Given the description of an element on the screen output the (x, y) to click on. 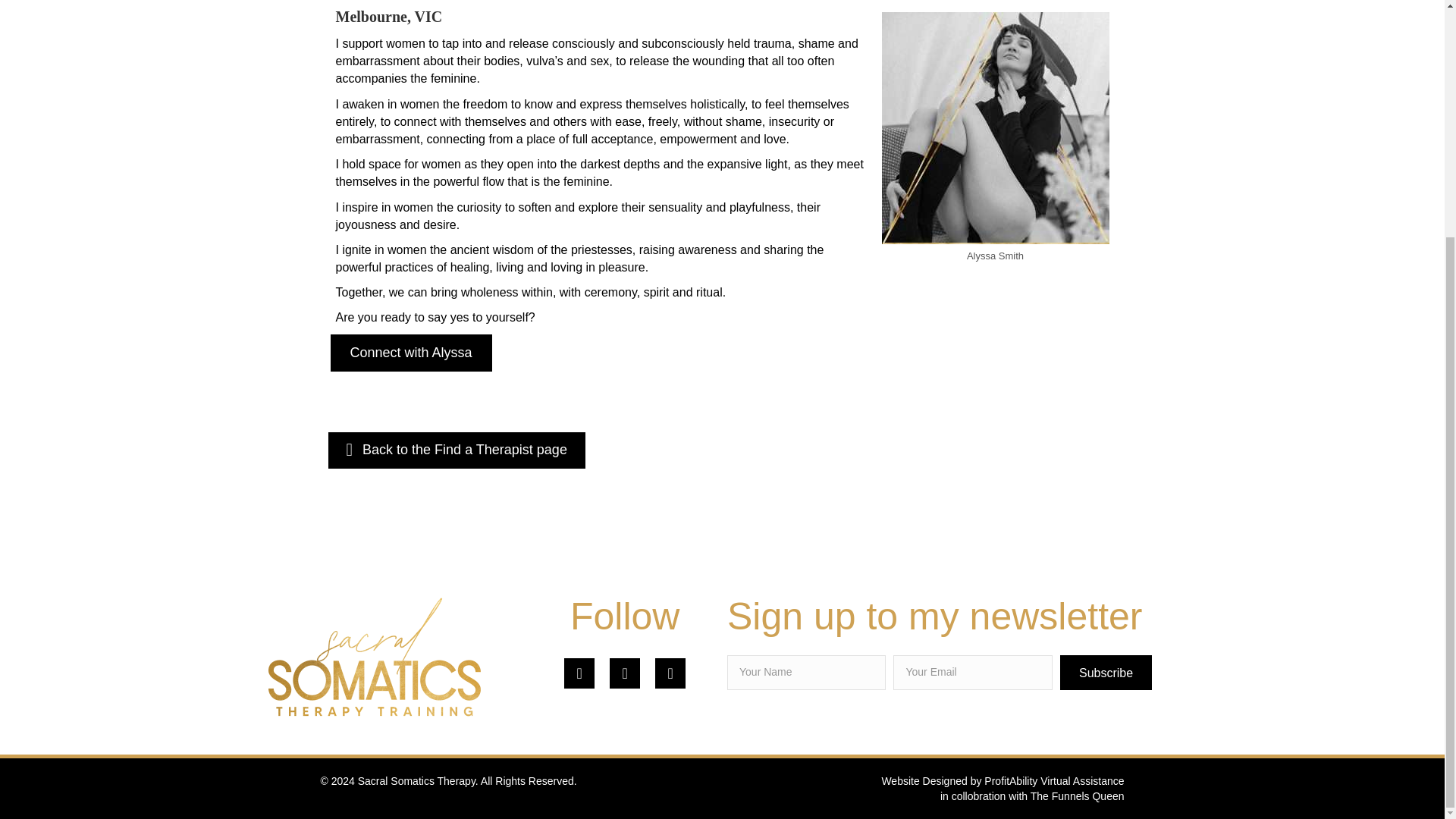
Click Here (1105, 672)
Back to the Find a Therapist page (456, 449)
Connect with Alyssa (411, 353)
Subscribe (1105, 672)
Sacral Somatics Logo (373, 656)
ProfitAbility Virtual Assistance (1054, 780)
